Given the description of an element on the screen output the (x, y) to click on. 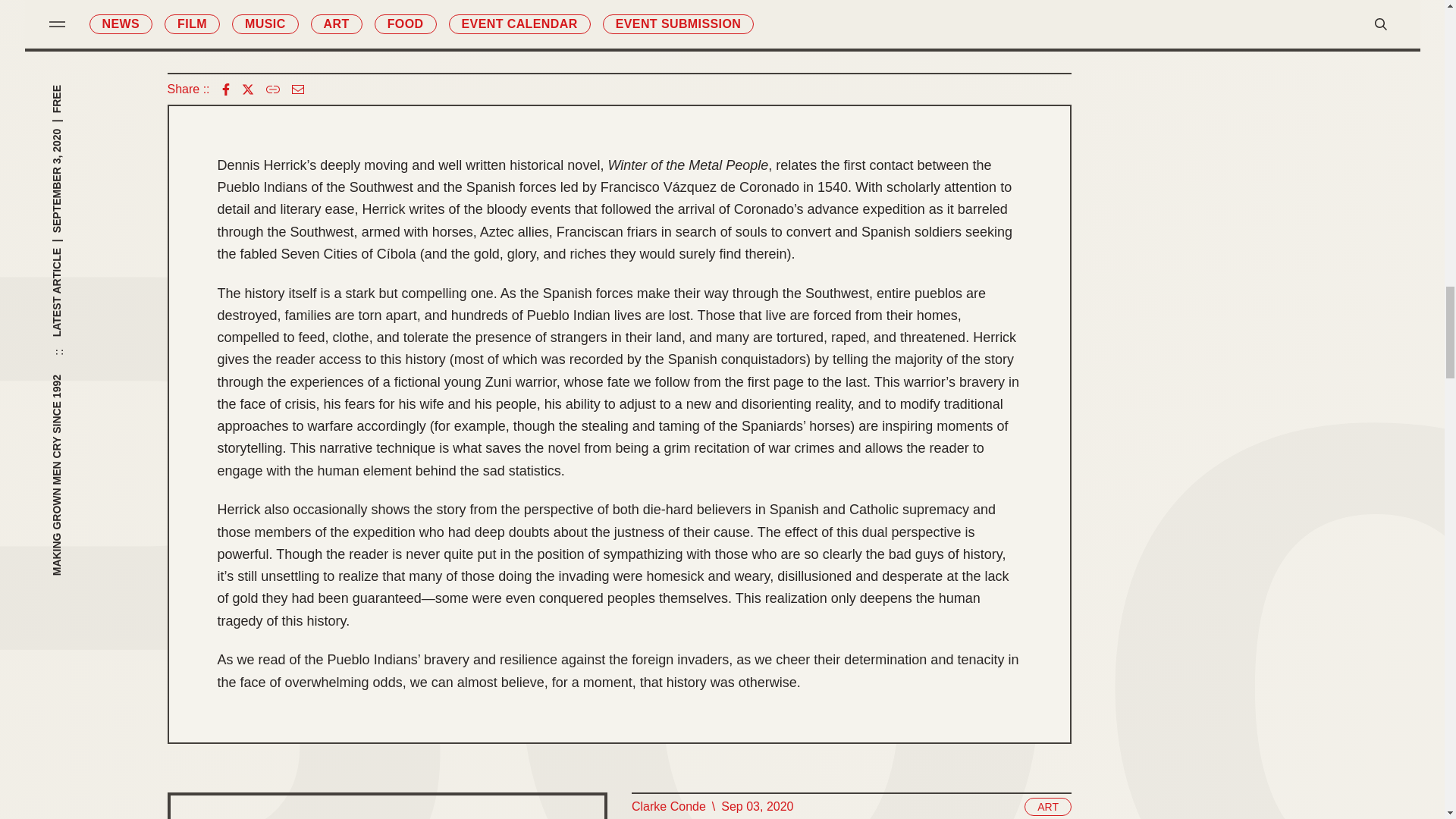
Clarke Conde (667, 806)
ART (1048, 806)
